Given the description of an element on the screen output the (x, y) to click on. 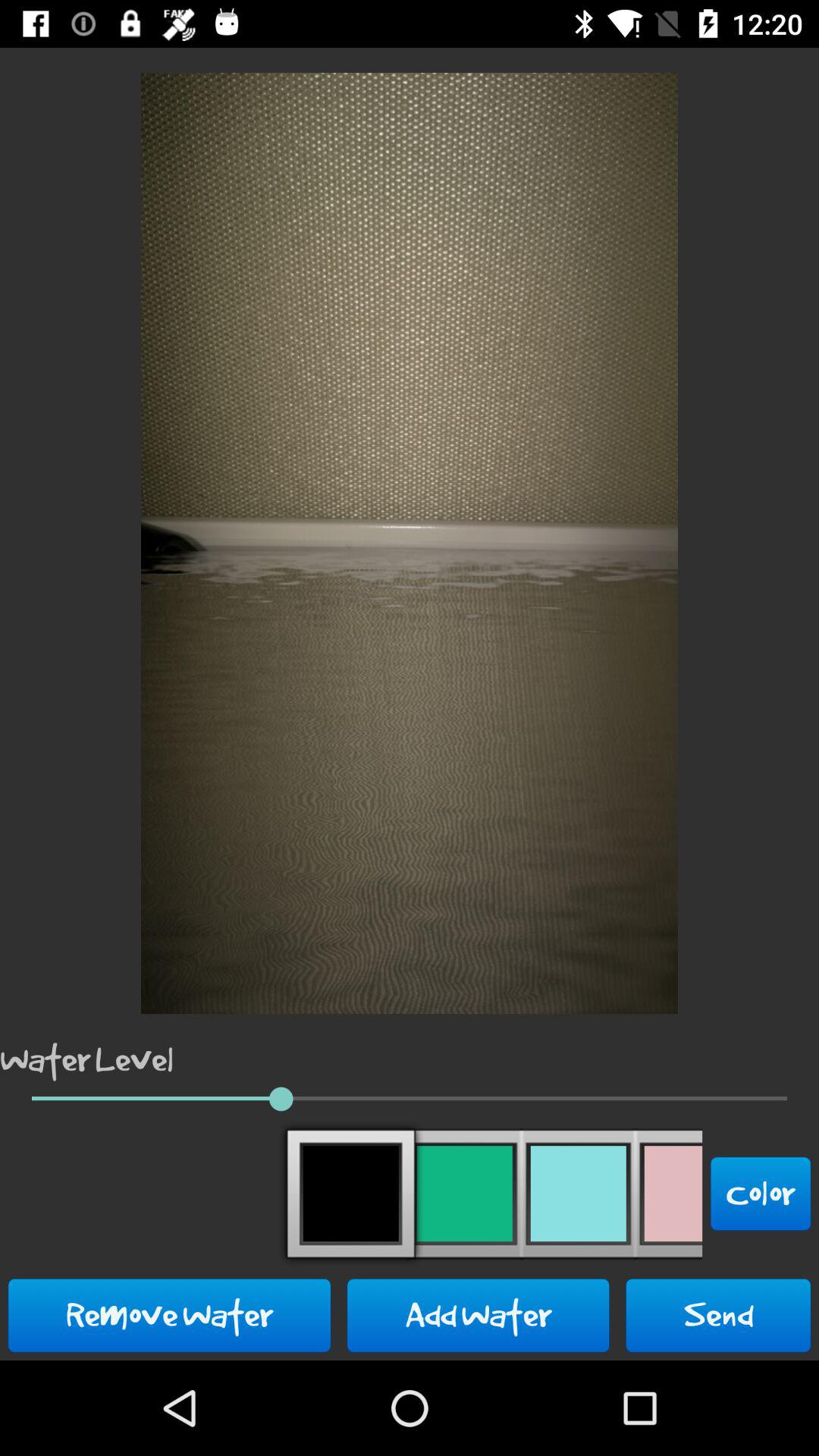
jump until the add water (477, 1315)
